Given the description of an element on the screen output the (x, y) to click on. 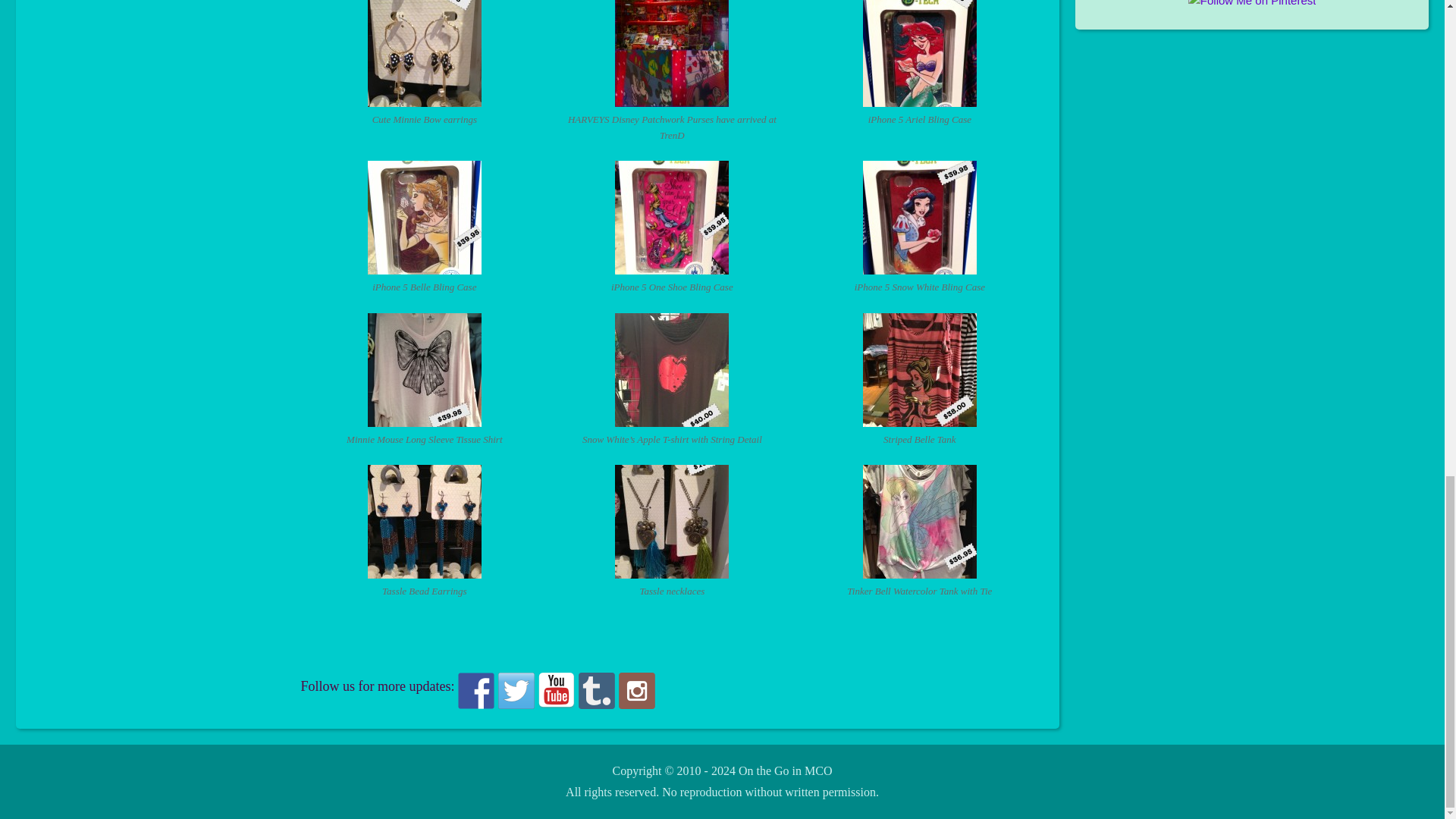
Find us on YouTube (556, 690)
Check us out on Instagram (636, 690)
Follow us on Facebook (476, 690)
Follow us on Twitter (515, 690)
Find us on tumblr (596, 690)
